Given the description of an element on the screen output the (x, y) to click on. 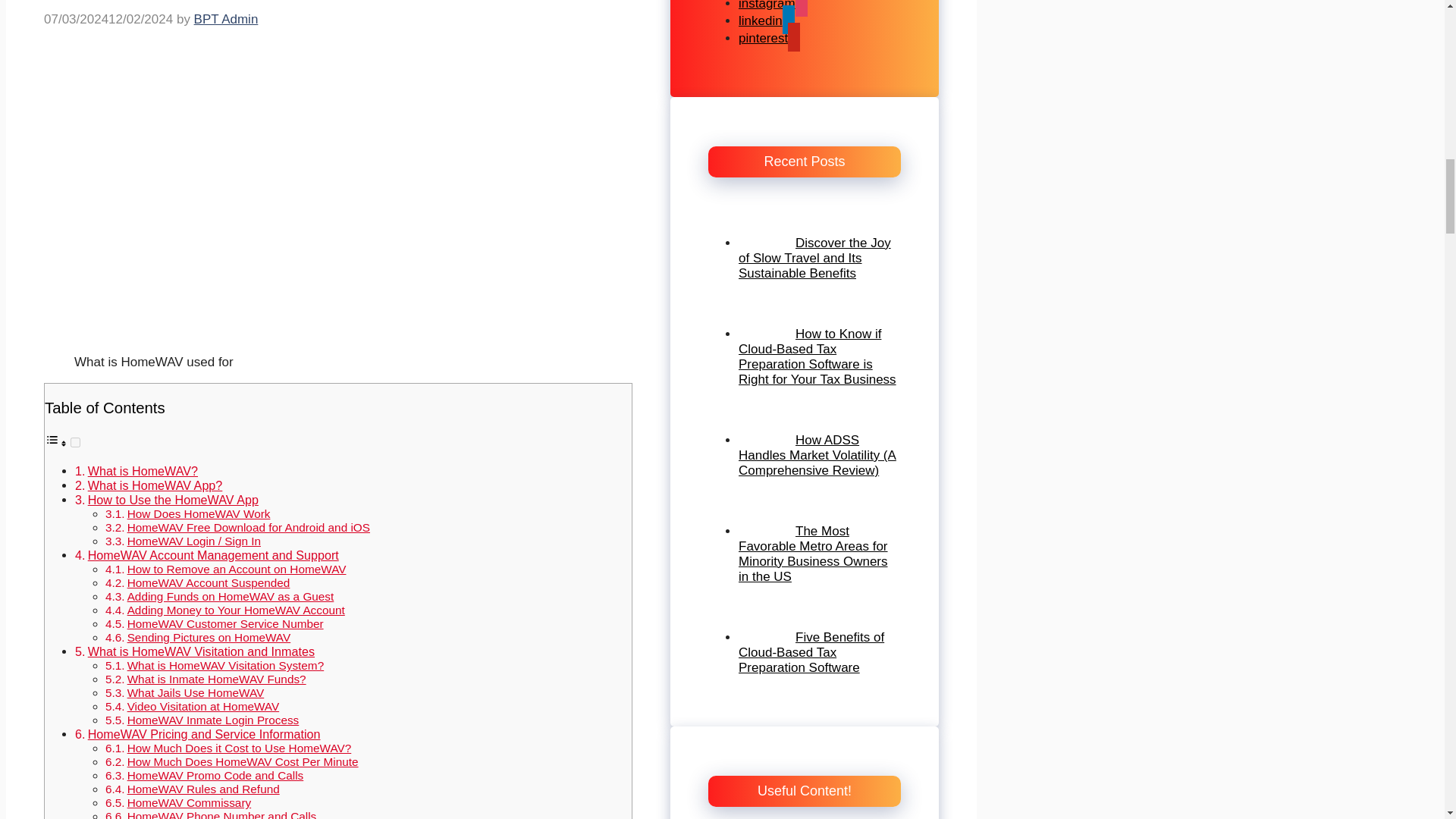
BPT Admin (226, 19)
How to Remove an Account on HomeWAV (237, 568)
What is HomeWAV? (142, 470)
Adding Money to Your HomeWAV Account (236, 609)
How Does HomeWAV Work (199, 513)
What is HomeWAV? (142, 470)
How to Use the HomeWAV App (173, 499)
HomeWAV Free Download for Android and iOS (248, 526)
Adding Funds on HomeWAV as a Guest (231, 595)
HomeWAV Account Suspended (208, 582)
Sending Pictures on HomeWAV (209, 636)
on (74, 442)
HomeWAV Account Management and Support (213, 554)
HomeWAV Customer Service Number (225, 623)
What is HomeWAV App? (154, 485)
